Given the description of an element on the screen output the (x, y) to click on. 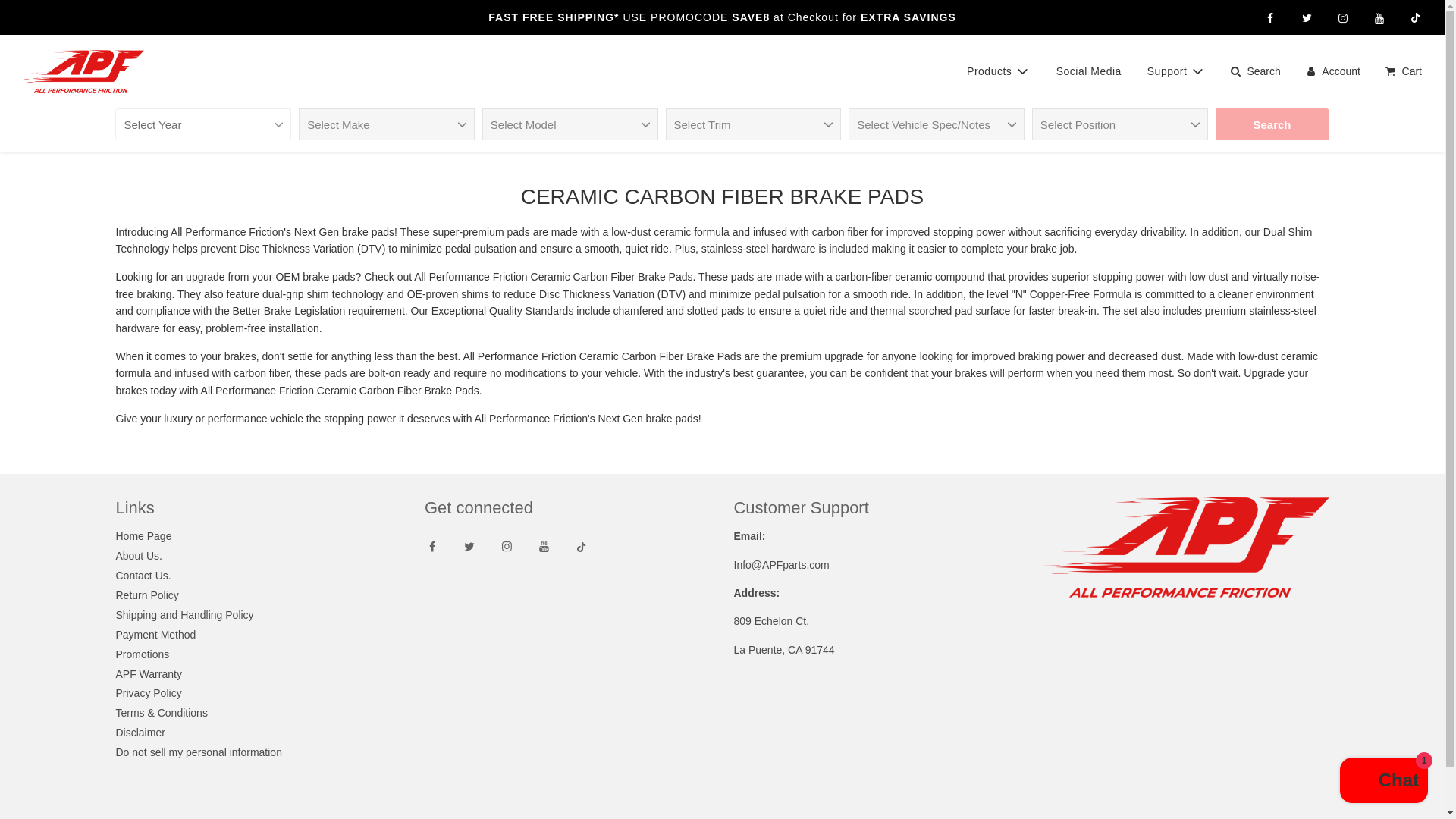
Search (1272, 124)
Search (1272, 124)
Social Media (1088, 70)
Shopify online store chat (1383, 781)
Products (998, 71)
Log in (1331, 70)
